Given the description of an element on the screen output the (x, y) to click on. 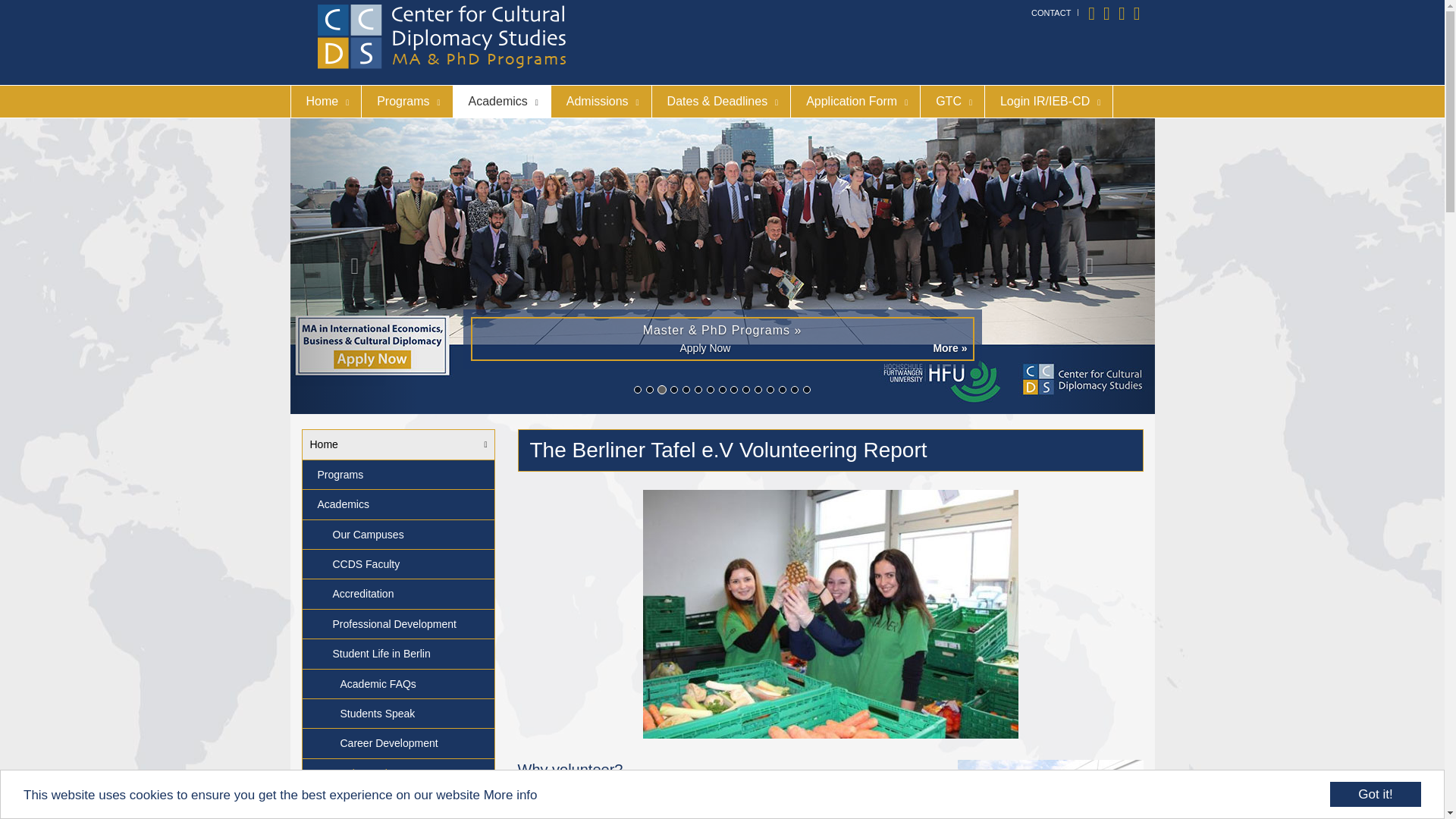
CCDS Faculty (397, 564)
Home (397, 444)
Academic FAQs (397, 684)
Accreditation (397, 594)
Application Form (855, 101)
Home (326, 101)
Students Speak (397, 713)
Student Life in Berlin (397, 654)
Programs (406, 101)
GTC (952, 101)
Academics (501, 101)
Home (326, 101)
Academics (501, 101)
Academics (397, 504)
CONTACT (1050, 12)
